Given the description of an element on the screen output the (x, y) to click on. 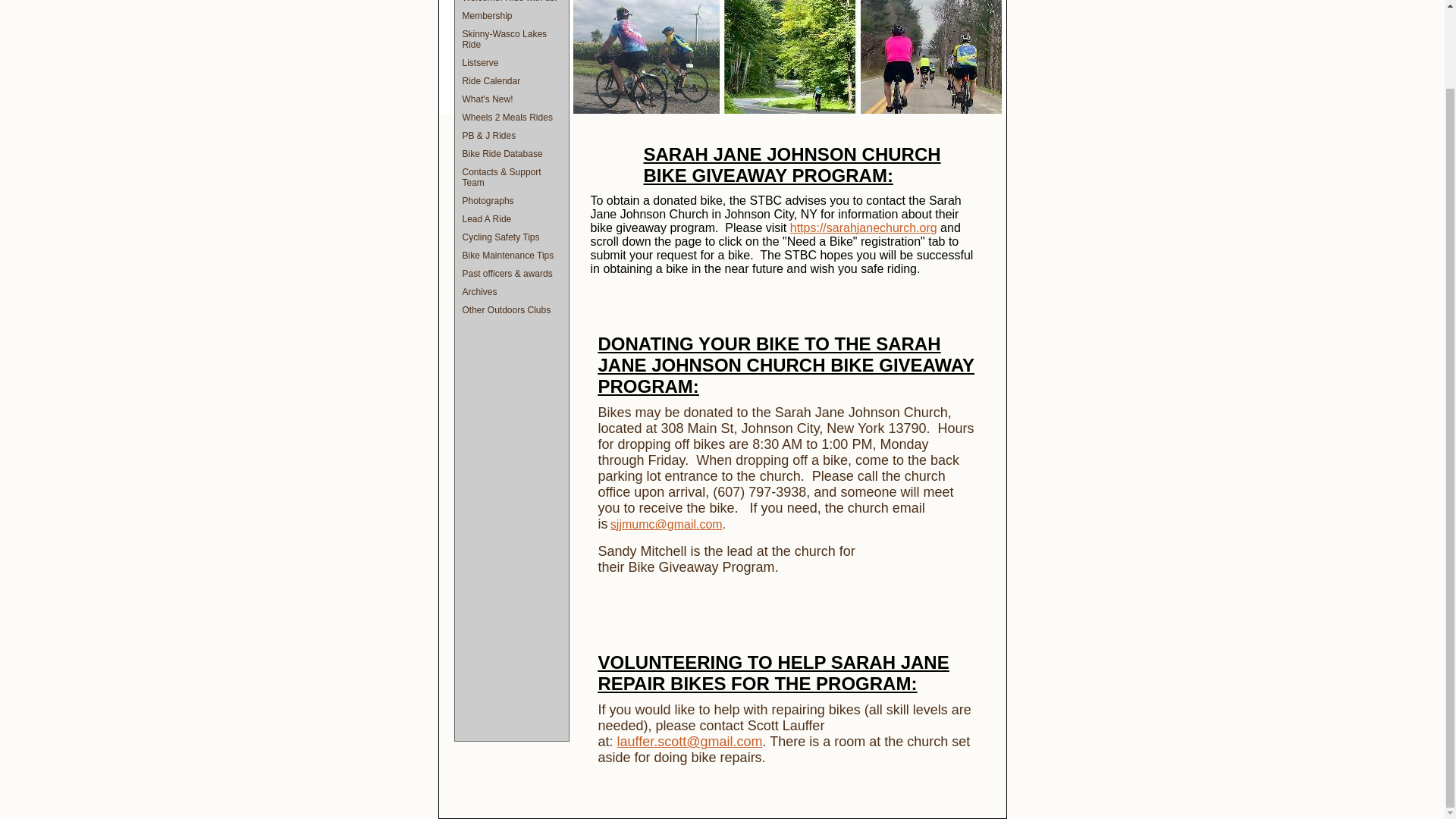
Archives (511, 291)
Bike Maintenance Tips (511, 255)
Welcome! Ride with us! (511, 3)
Other Outdoors Clubs (511, 310)
Bike Ride Database (511, 153)
What's New! (511, 99)
Skinny-Wasco Lakes Ride (511, 39)
Membership (511, 15)
Cycling Safety Tips (511, 237)
Ride Calendar (511, 81)
Wheels 2 Meals Rides (511, 117)
Lead A Ride (511, 218)
Photographs (511, 200)
Listserve (511, 63)
